Given the description of an element on the screen output the (x, y) to click on. 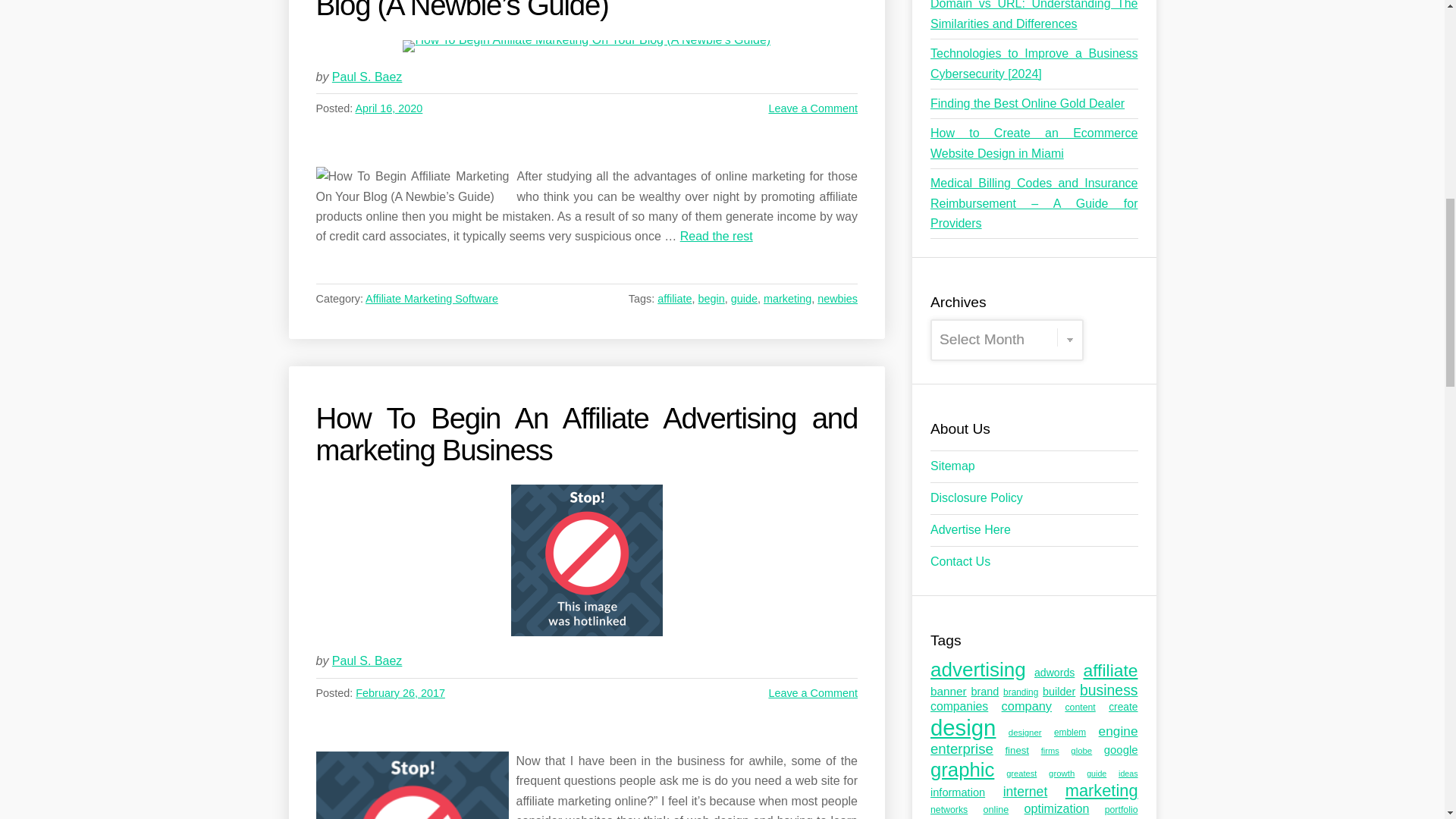
How To Begin An Affiliate Advertising and marketing Business (586, 560)
How To Begin An Affiliate Advertising and marketing Business (411, 785)
Posts by Paul S. Baez (367, 660)
Posts by Paul S. Baez (367, 76)
